Given the description of an element on the screen output the (x, y) to click on. 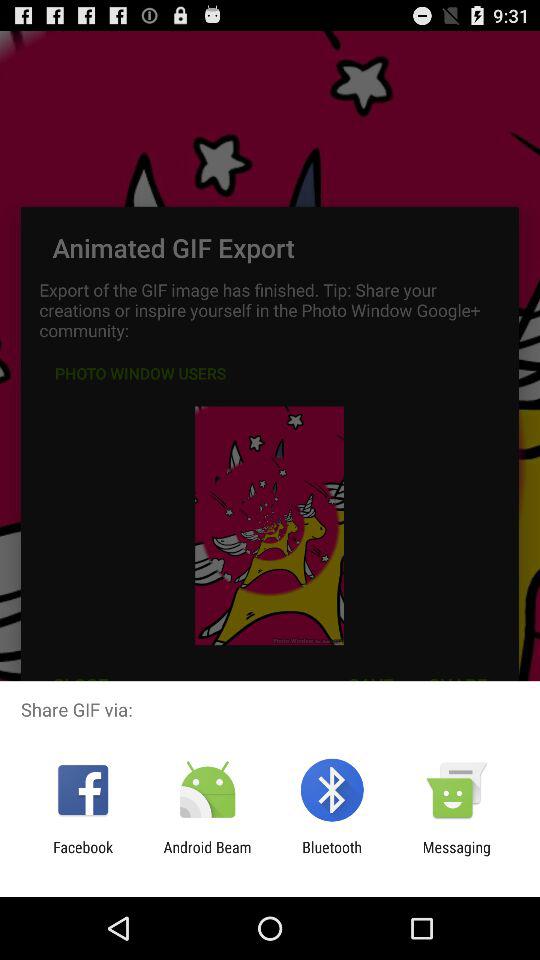
choose icon next to the bluetooth app (456, 856)
